Given the description of an element on the screen output the (x, y) to click on. 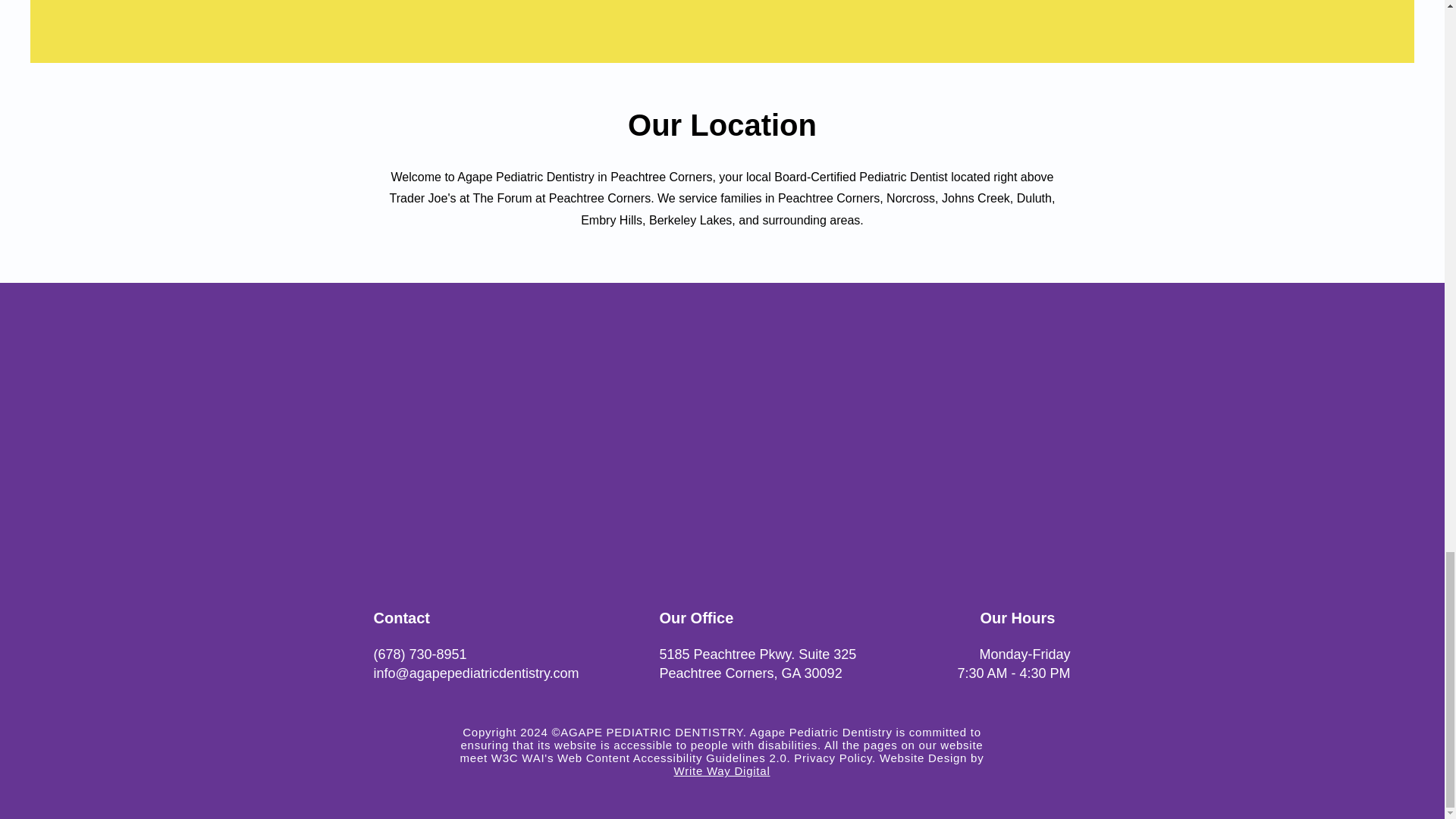
Write Way Digital (722, 770)
